Given the description of an element on the screen output the (x, y) to click on. 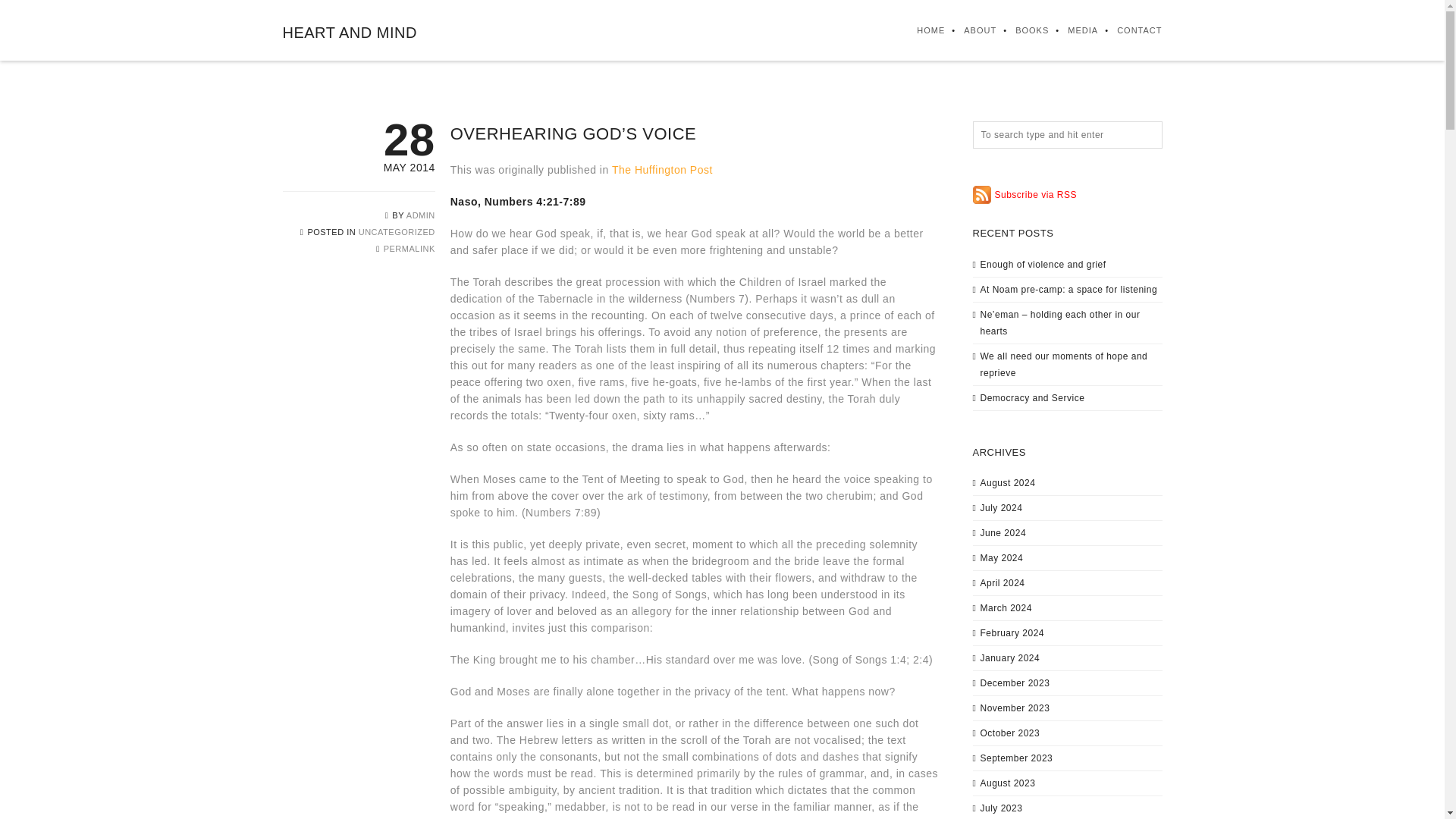
PERMALINK (409, 248)
Search for: (1066, 134)
Democracy and Service (1031, 398)
CONTACT (1129, 30)
HEART AND MIND (349, 32)
Subscribe via RSS (1024, 194)
The Huffington Post (662, 169)
We all need our moments of hope and reprieve (1063, 363)
Posts by admin (420, 215)
ADMIN (420, 215)
